Given the description of an element on the screen output the (x, y) to click on. 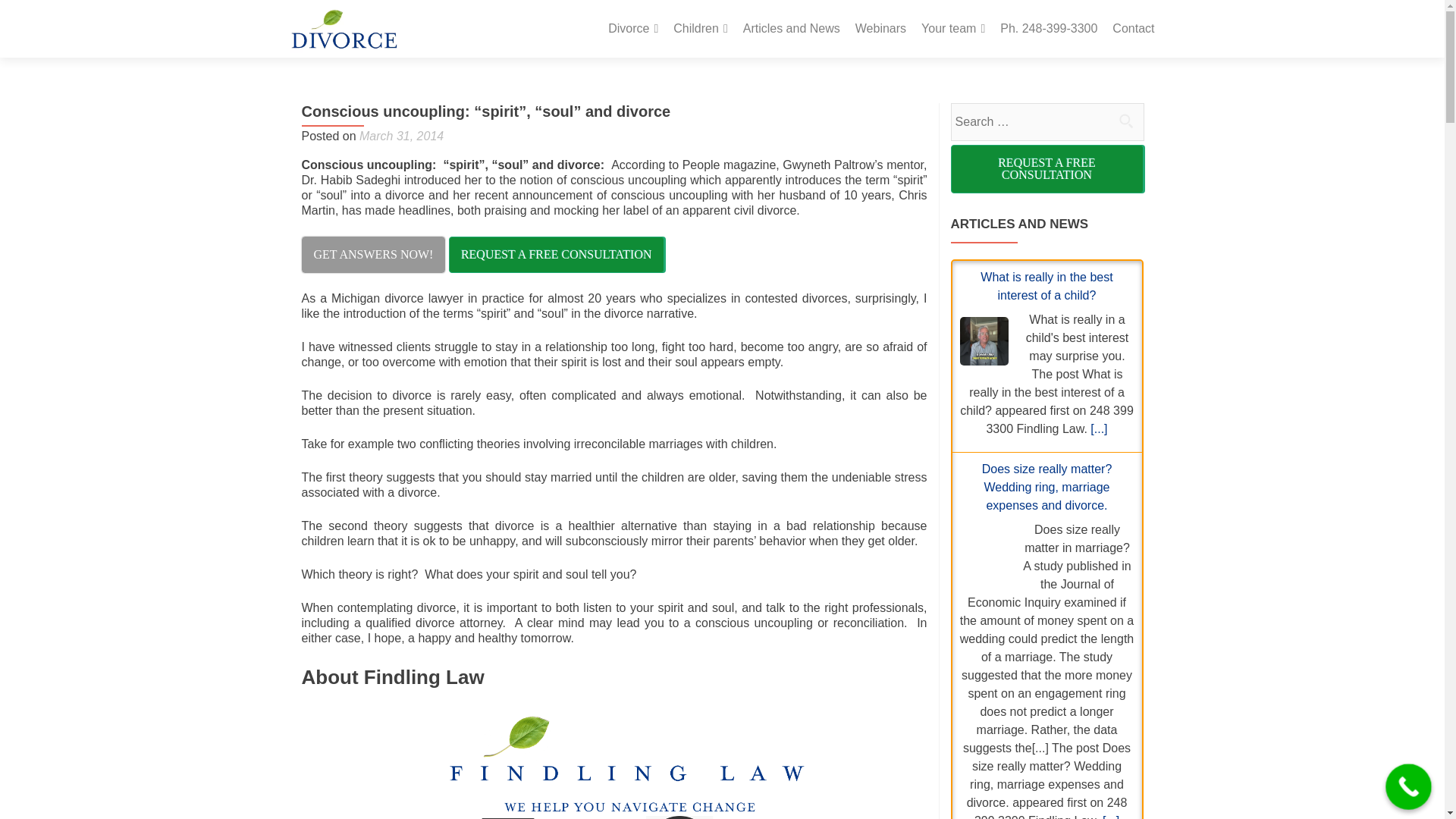
Children (699, 28)
Divorce (633, 28)
Search (1125, 120)
Search (1125, 120)
